Given the description of an element on the screen output the (x, y) to click on. 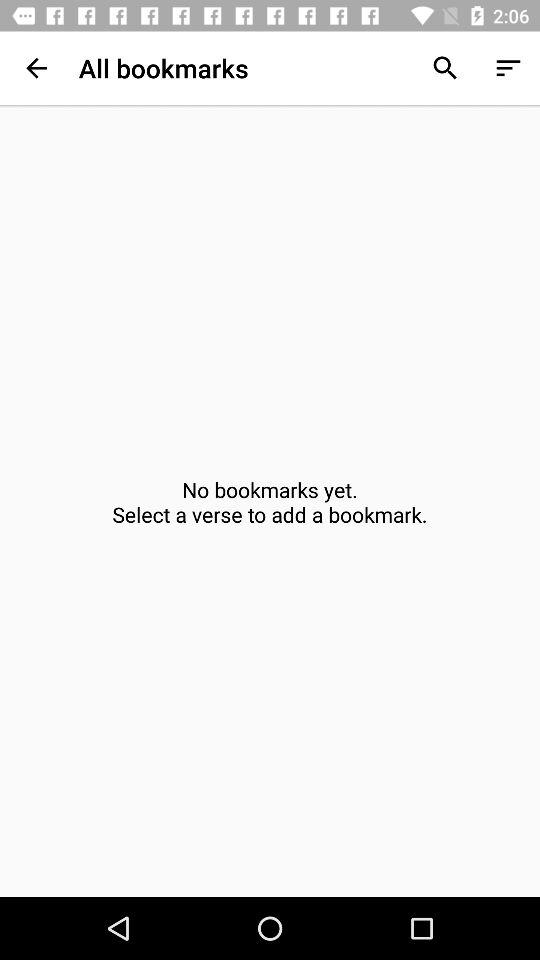
select app to the right of the all bookmarks app (444, 67)
